Given the description of an element on the screen output the (x, y) to click on. 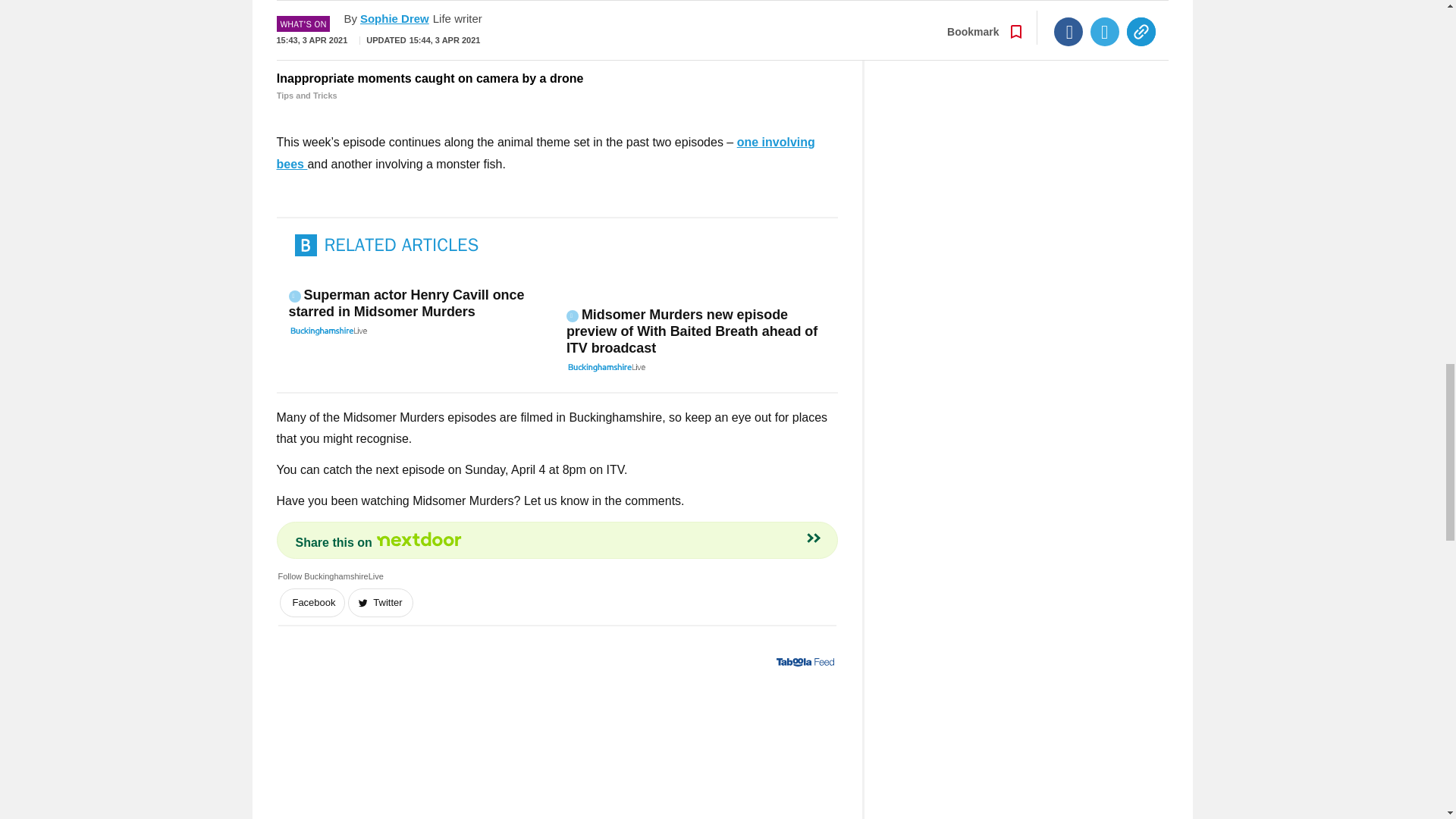
Inappropriate moments caught on camera by a drone (557, 87)
Inappropriate moments caught on camera by a drone (557, 33)
